Given the description of an element on the screen output the (x, y) to click on. 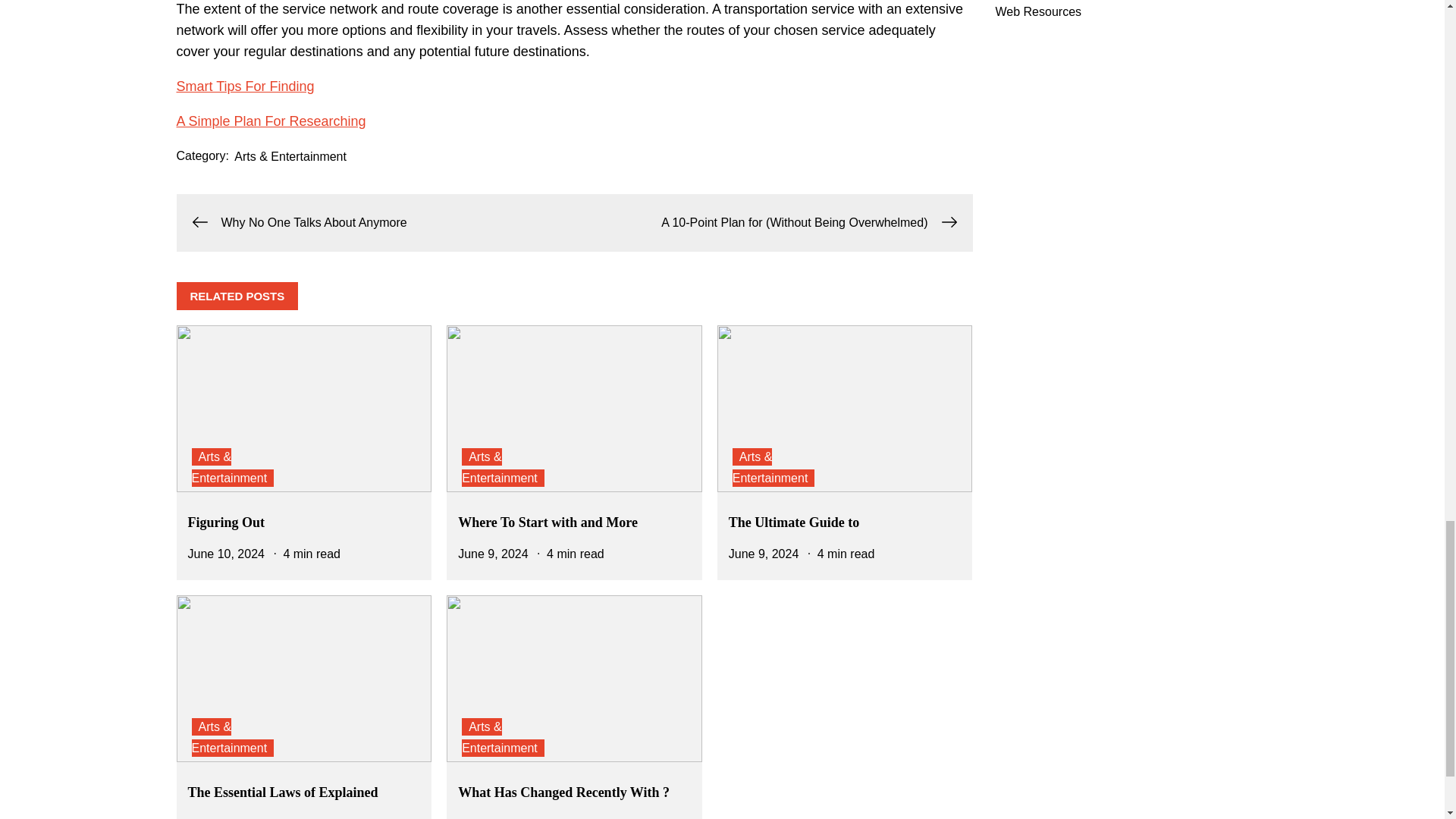
The Ultimate Guide to (794, 522)
June 8, 2024 (493, 818)
Smart Tips For Finding (245, 86)
The Essential Laws of Explained (282, 792)
Where To Start with and More (547, 522)
June 10, 2024 (225, 553)
June 9, 2024 (493, 553)
June 8, 2024 (223, 818)
Figuring Out (225, 522)
What Has Changed Recently With ? (563, 792)
A Simple Plan For Researching (270, 120)
June 9, 2024 (764, 553)
